Given the description of an element on the screen output the (x, y) to click on. 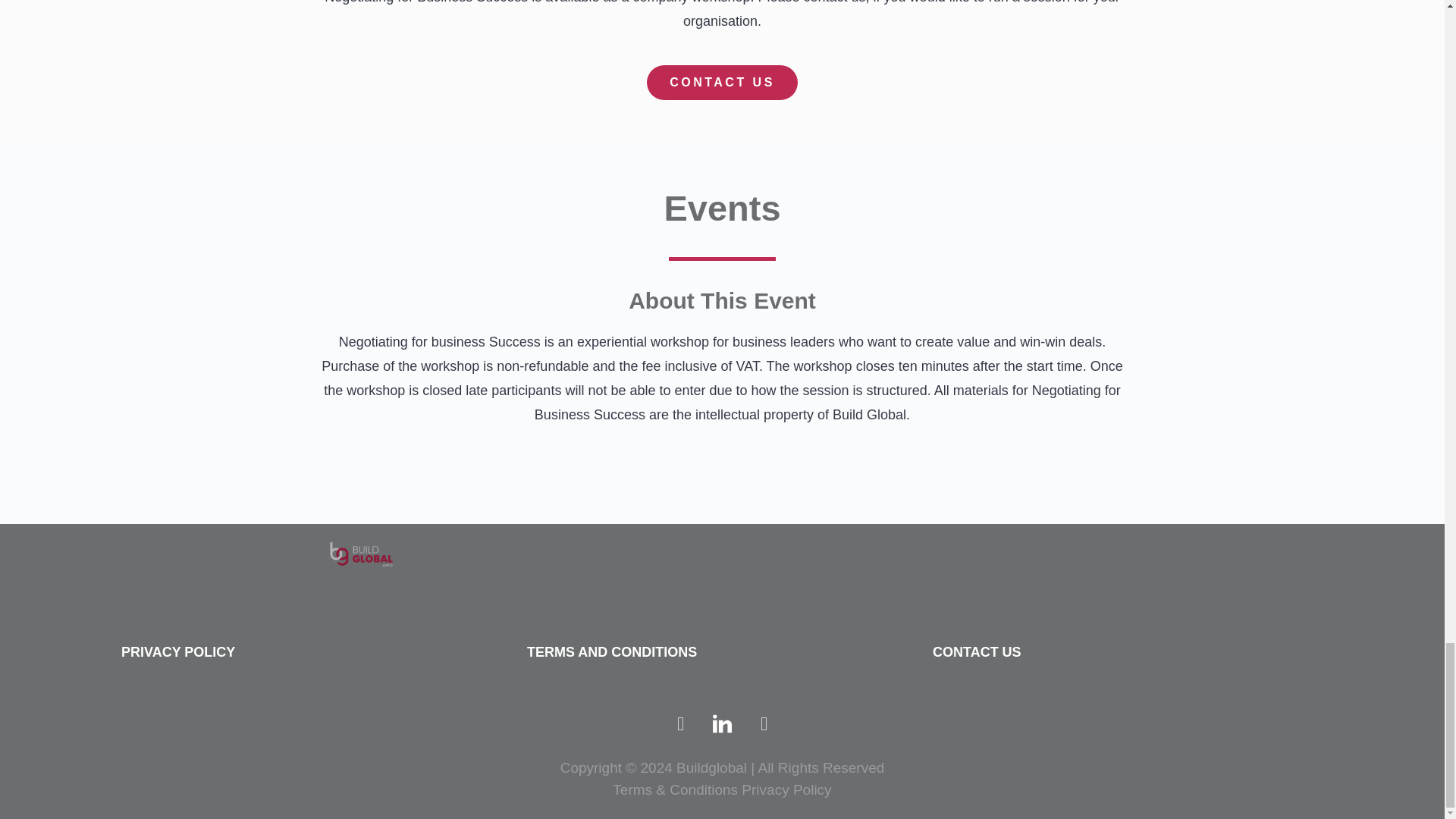
CONTACT US (721, 82)
PRIVACY POLICY (177, 652)
TERMS AND CONDITIONS (612, 652)
CONTACT US (977, 652)
